Given the description of an element on the screen output the (x, y) to click on. 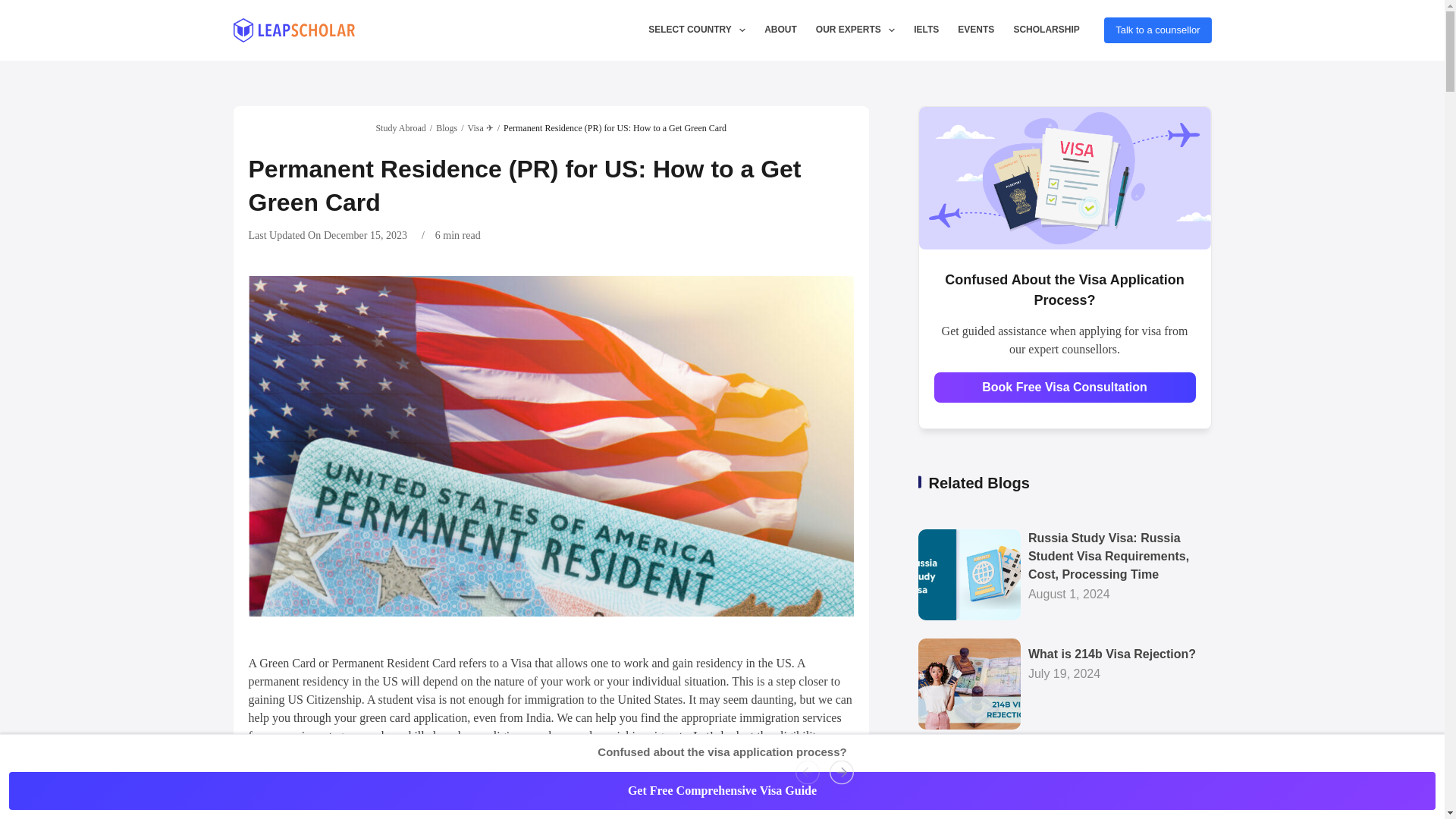
General Application Process (907, 807)
Skip to content (15, 7)
SELECT COUNTRY (697, 30)
Green Card Eligibility Categories (379, 807)
Permanent Residence Prerequisites (642, 807)
EVENTS (976, 30)
Scroll here (560, 818)
OUR EXPERTS (855, 30)
Scroll here (825, 818)
Scroll here (296, 818)
